Given the description of an element on the screen output the (x, y) to click on. 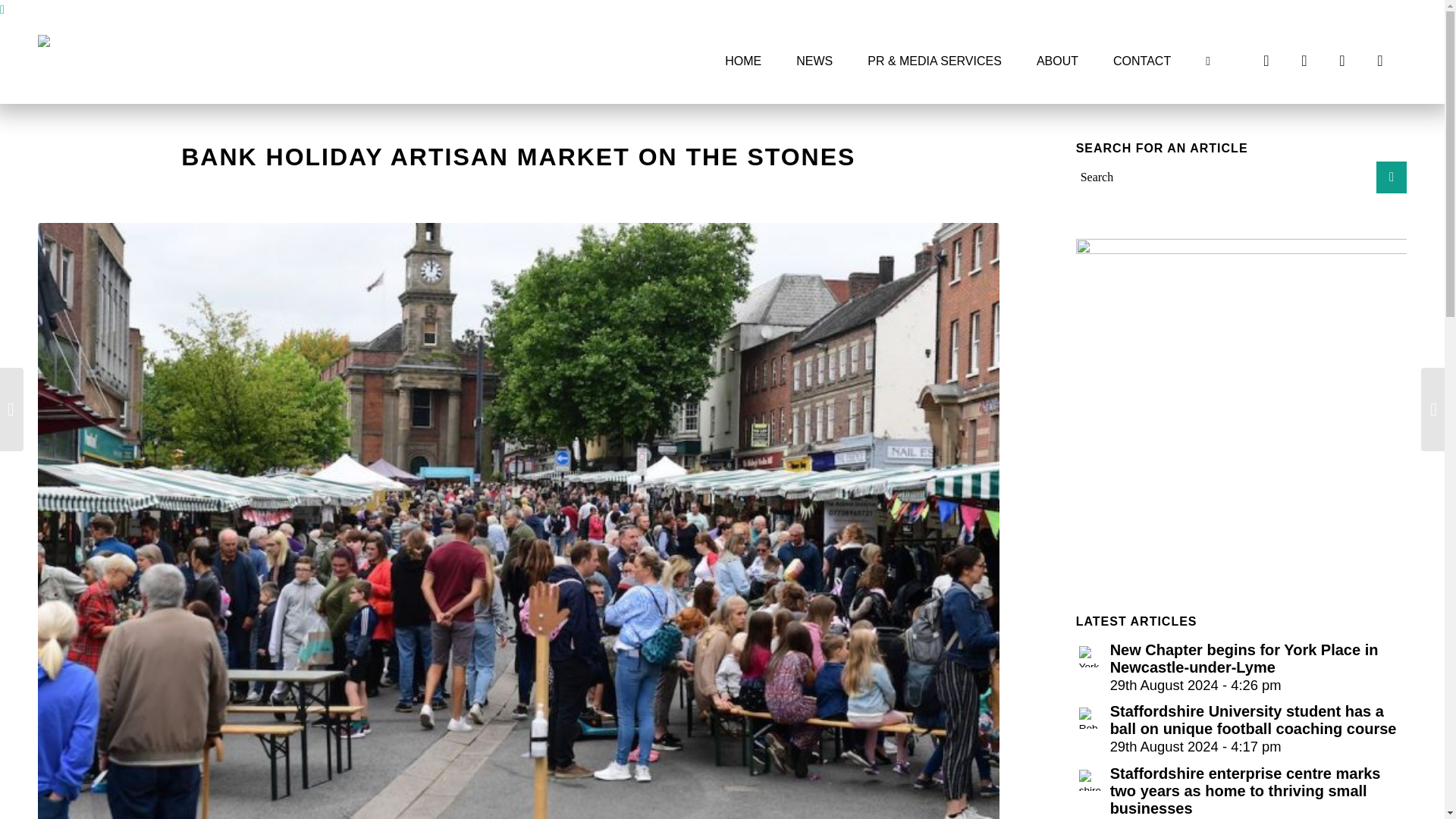
Instagram (1342, 60)
CONTACT (1141, 61)
New Chapter begins for York Place in Newcastle-under-Lyme (1240, 666)
LinkedIn (1379, 60)
Twitter (1304, 60)
Facebook (1266, 60)
